Given the description of an element on the screen output the (x, y) to click on. 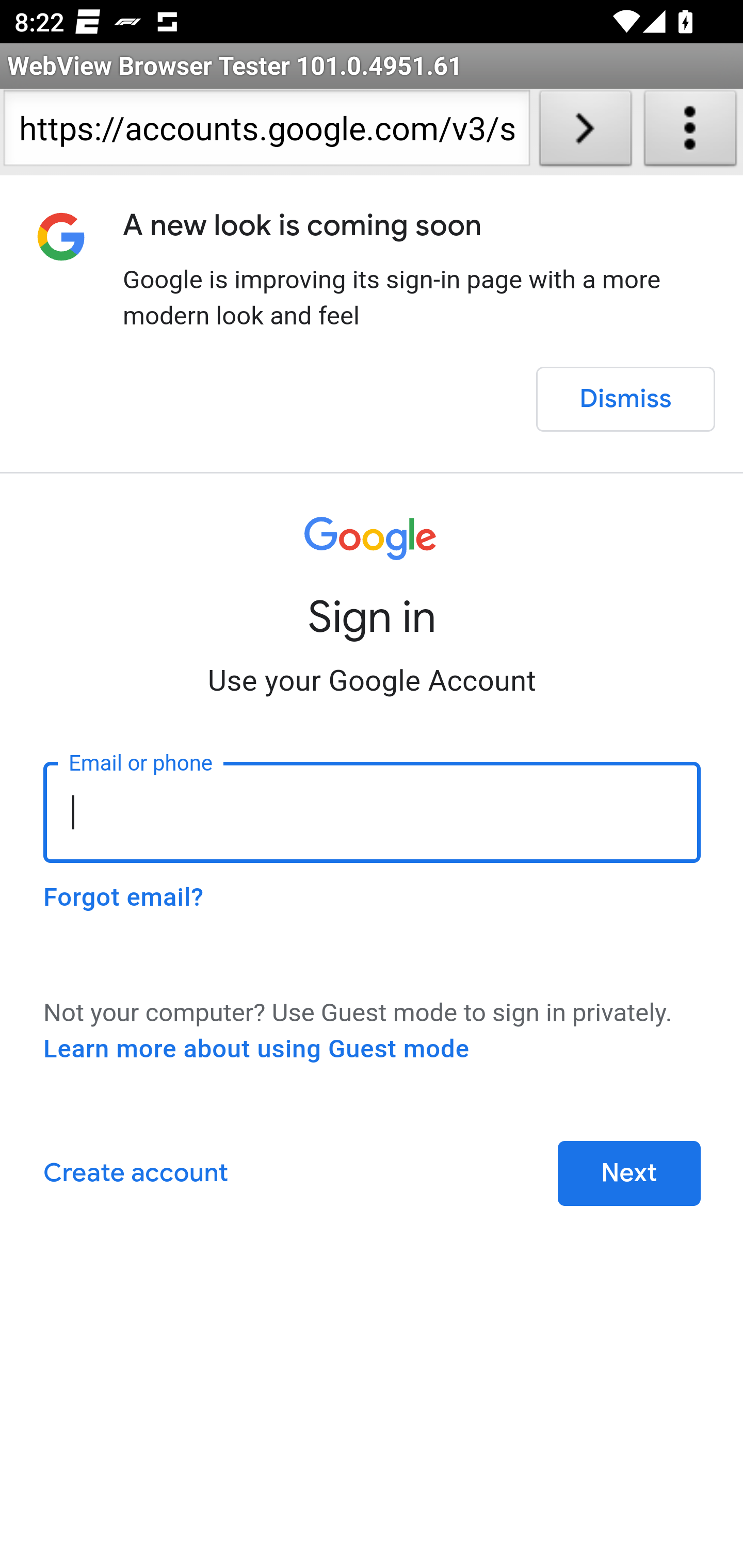
Load URL (585, 132)
About WebView (690, 132)
Dismiss (625, 398)
Forgot email? (123, 897)
Learn more about using Guest mode (256, 1048)
Create account (134, 1173)
Next (629, 1173)
